Given the description of an element on the screen output the (x, y) to click on. 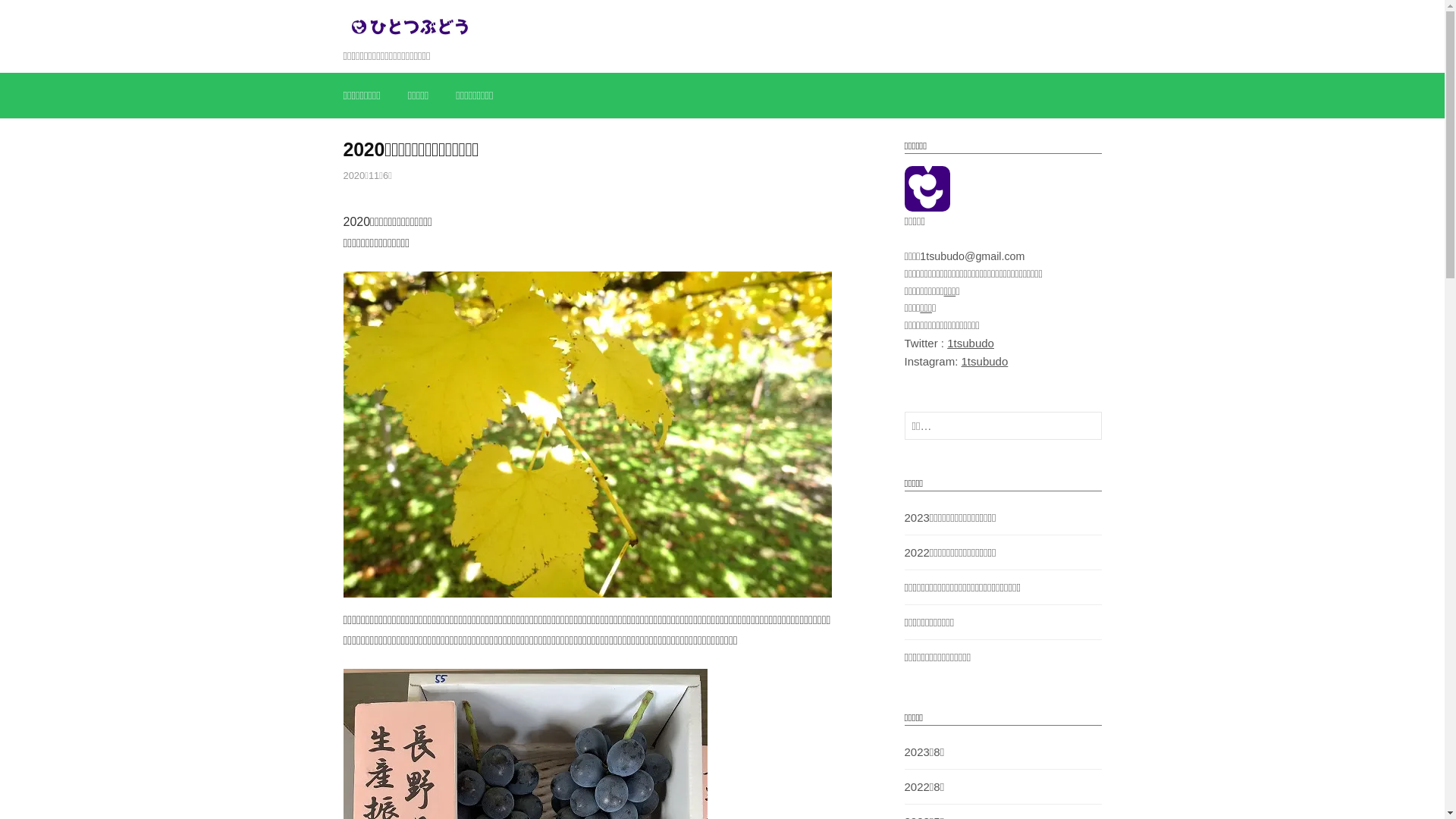
1tsubudo Element type: text (984, 360)
1tsubudo Element type: text (970, 342)
